Given the description of an element on the screen output the (x, y) to click on. 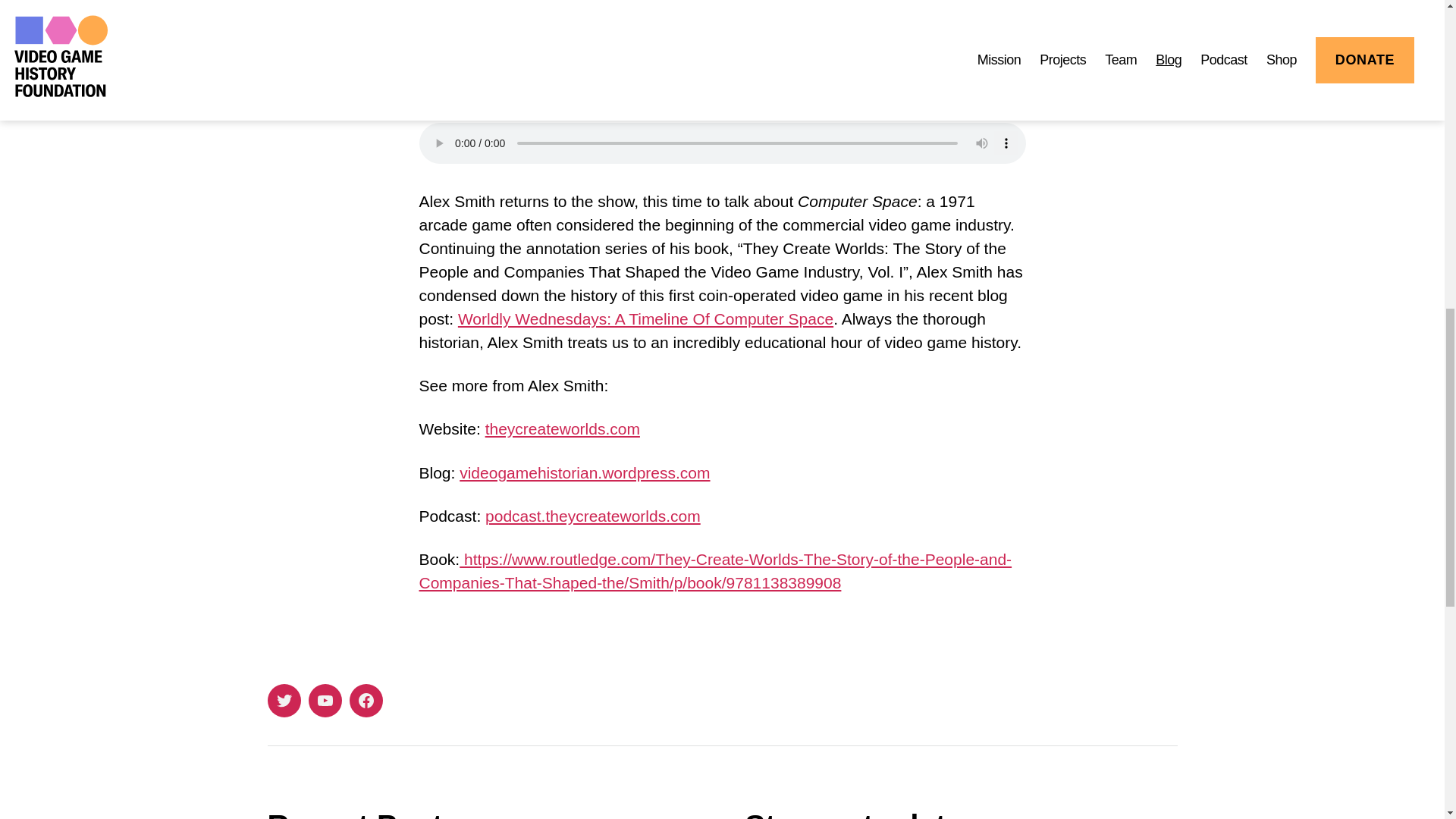
videogamehistorian.wordpress.com (585, 472)
theycreateworlds.com (562, 428)
Worldly Wednesdays: A Timeline Of Computer Space (645, 318)
YouTube (323, 700)
podcast.theycreateworlds.com (592, 515)
Facebook (365, 700)
Twitter (282, 700)
